Given the description of an element on the screen output the (x, y) to click on. 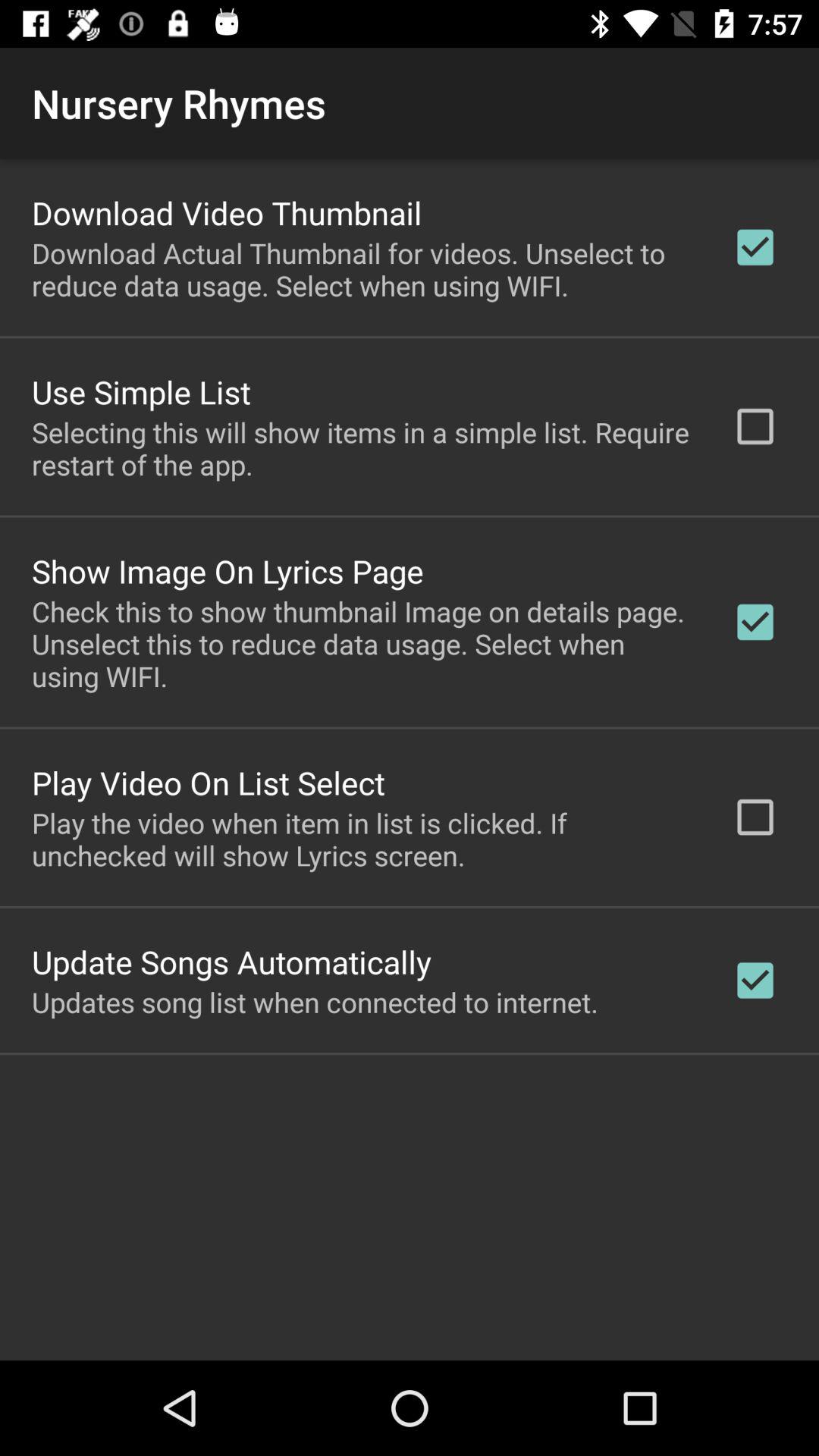
click icon below the show image on app (361, 643)
